Given the description of an element on the screen output the (x, y) to click on. 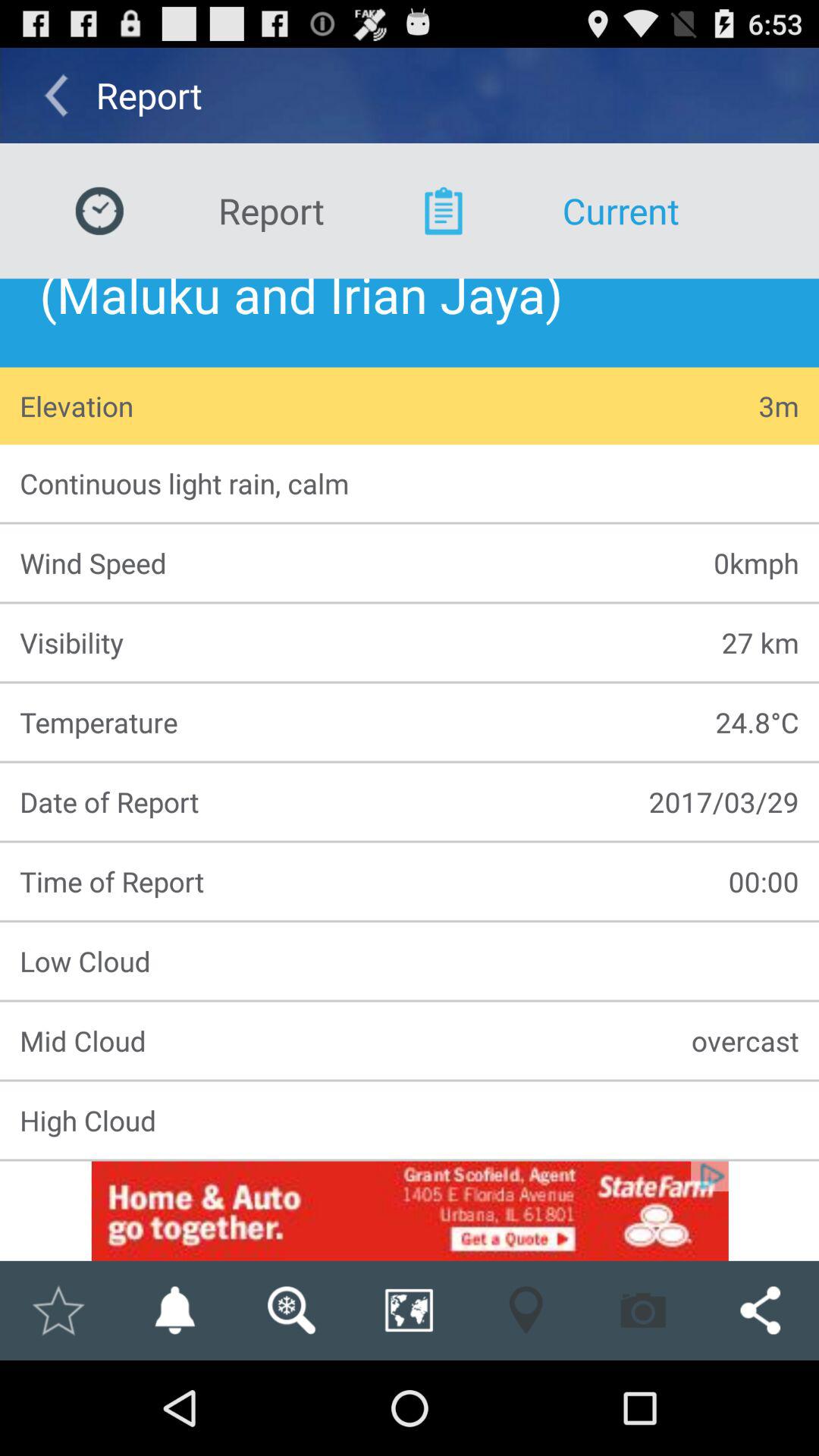
notifications menu (174, 1310)
